Given the description of an element on the screen output the (x, y) to click on. 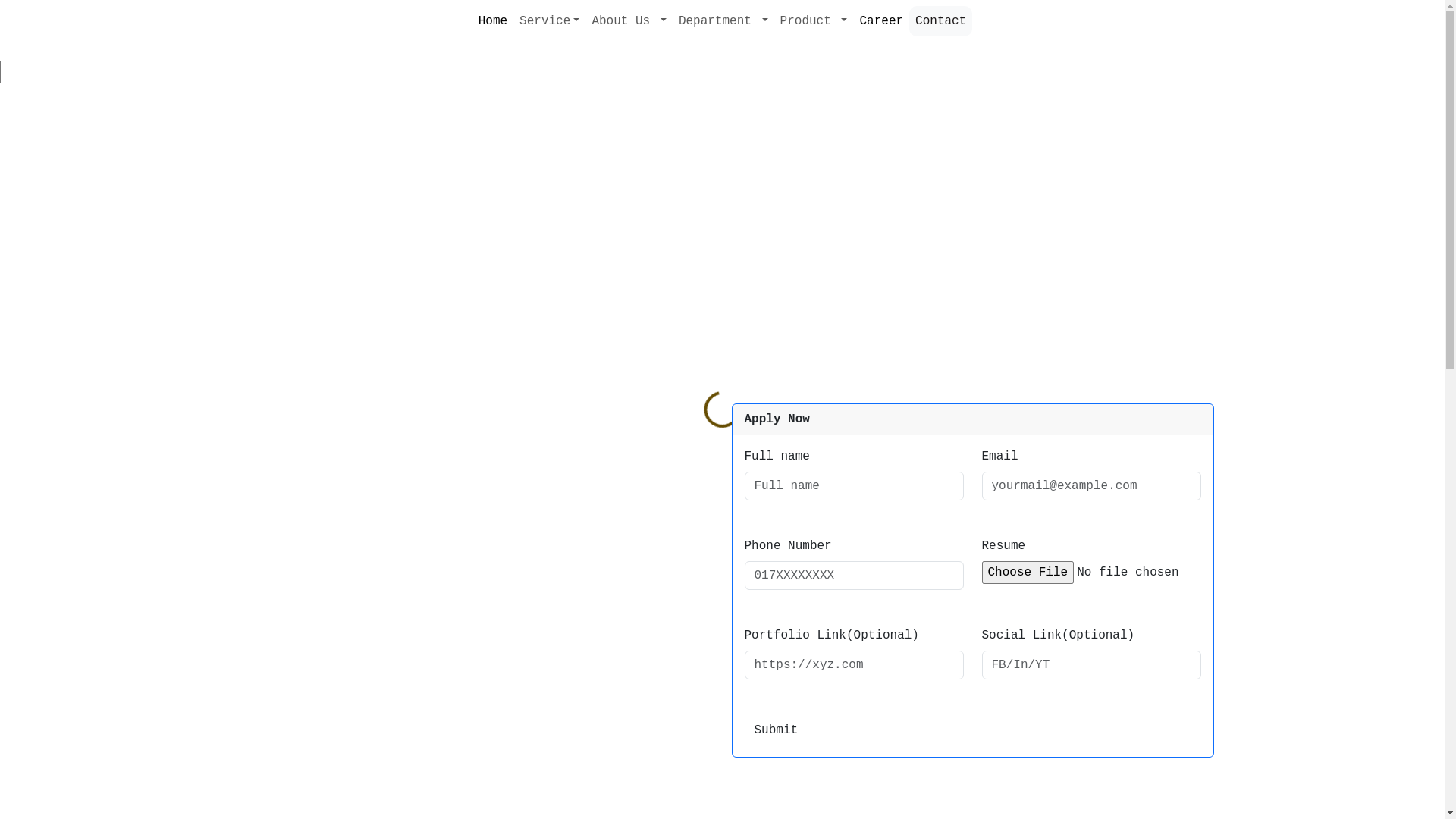
Product Element type: text (813, 21)
Home Element type: text (492, 21)
Career Element type: text (881, 21)
Service Element type: text (549, 21)
Department Element type: text (723, 21)
  Call Us Element type: text (48, 71)
Refer a friend Element type: text (1149, 278)
Contact Element type: text (940, 21)
About Us Element type: text (628, 21)
  Call Us Element type: text (48, 71)
Submit Element type: text (776, 729)
